Given the description of an element on the screen output the (x, y) to click on. 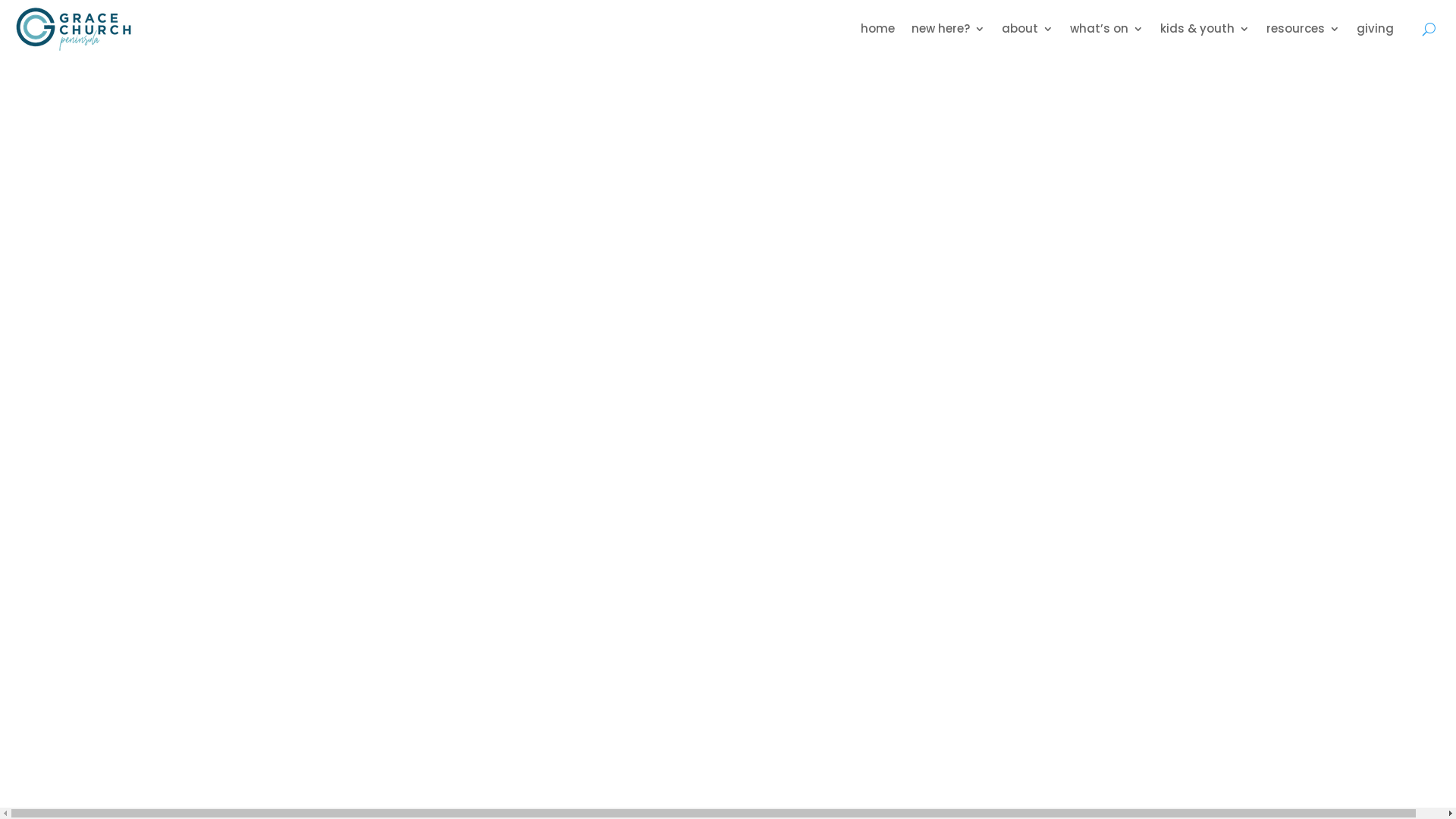
about Element type: text (1027, 28)
kids & youth Element type: text (1204, 28)
home Element type: text (877, 28)
giving Element type: text (1374, 28)
resources Element type: text (1302, 28)
new here? Element type: text (948, 28)
